Given the description of an element on the screen output the (x, y) to click on. 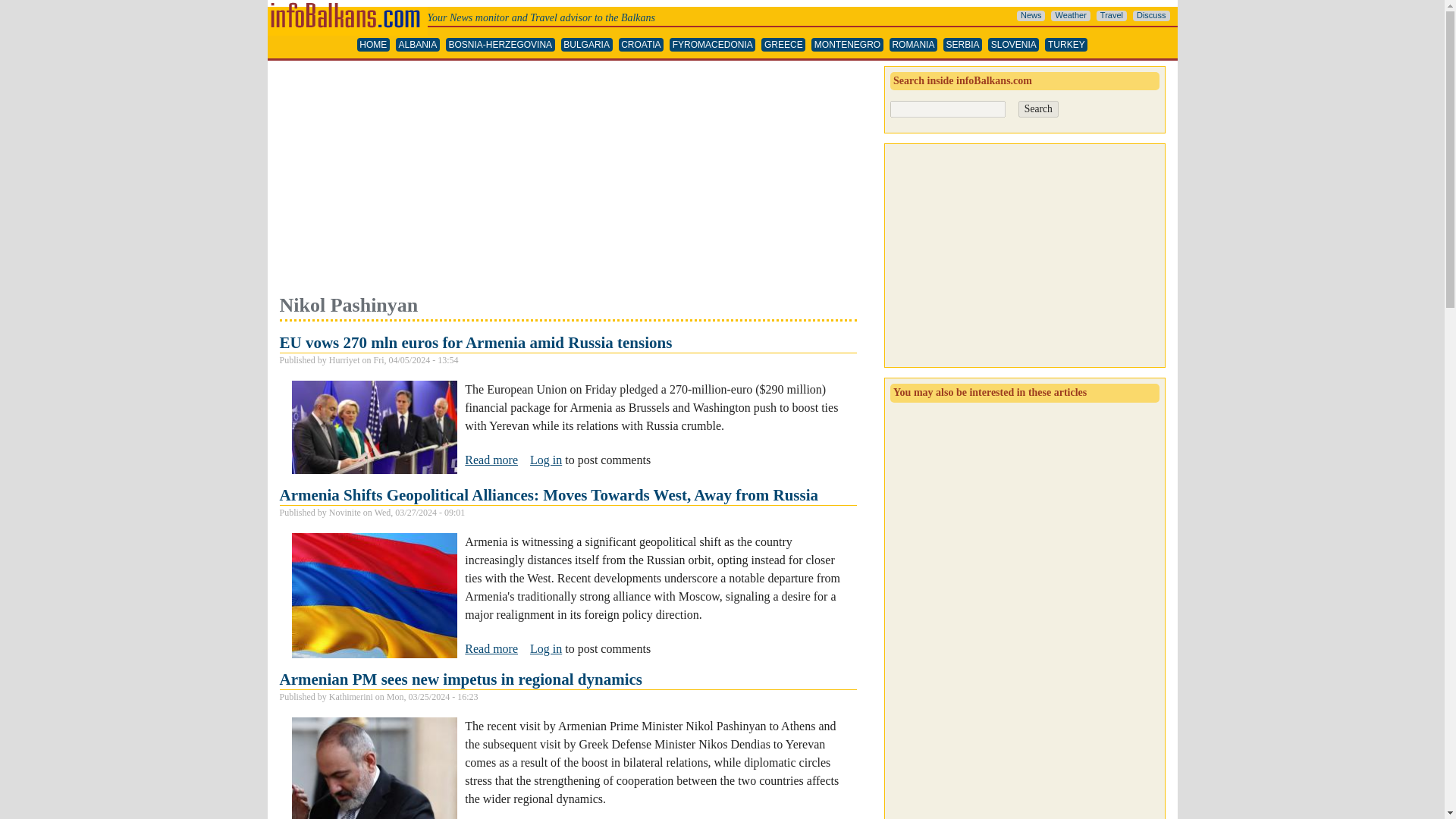
FYROMACEDONIA (712, 44)
EU vows 270 mln euros for Armenia amid Russia tensions (491, 459)
Search (1037, 108)
ALBANIA (417, 44)
Discuss (1151, 15)
GREECE (783, 44)
BULGARIA (586, 44)
Advertisement (567, 178)
Log in (545, 459)
